Given the description of an element on the screen output the (x, y) to click on. 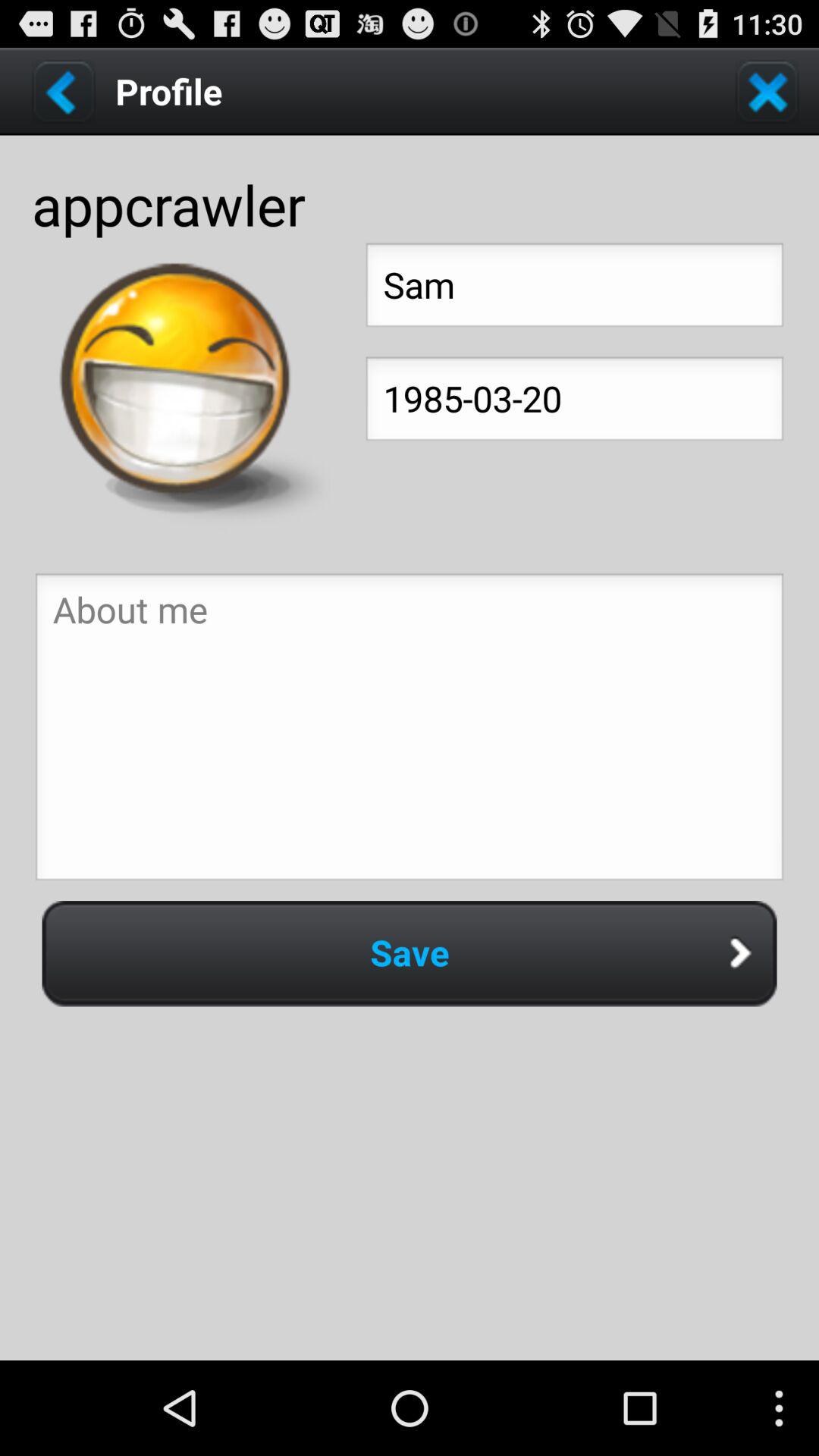
click cancel (767, 91)
